Given the description of an element on the screen output the (x, y) to click on. 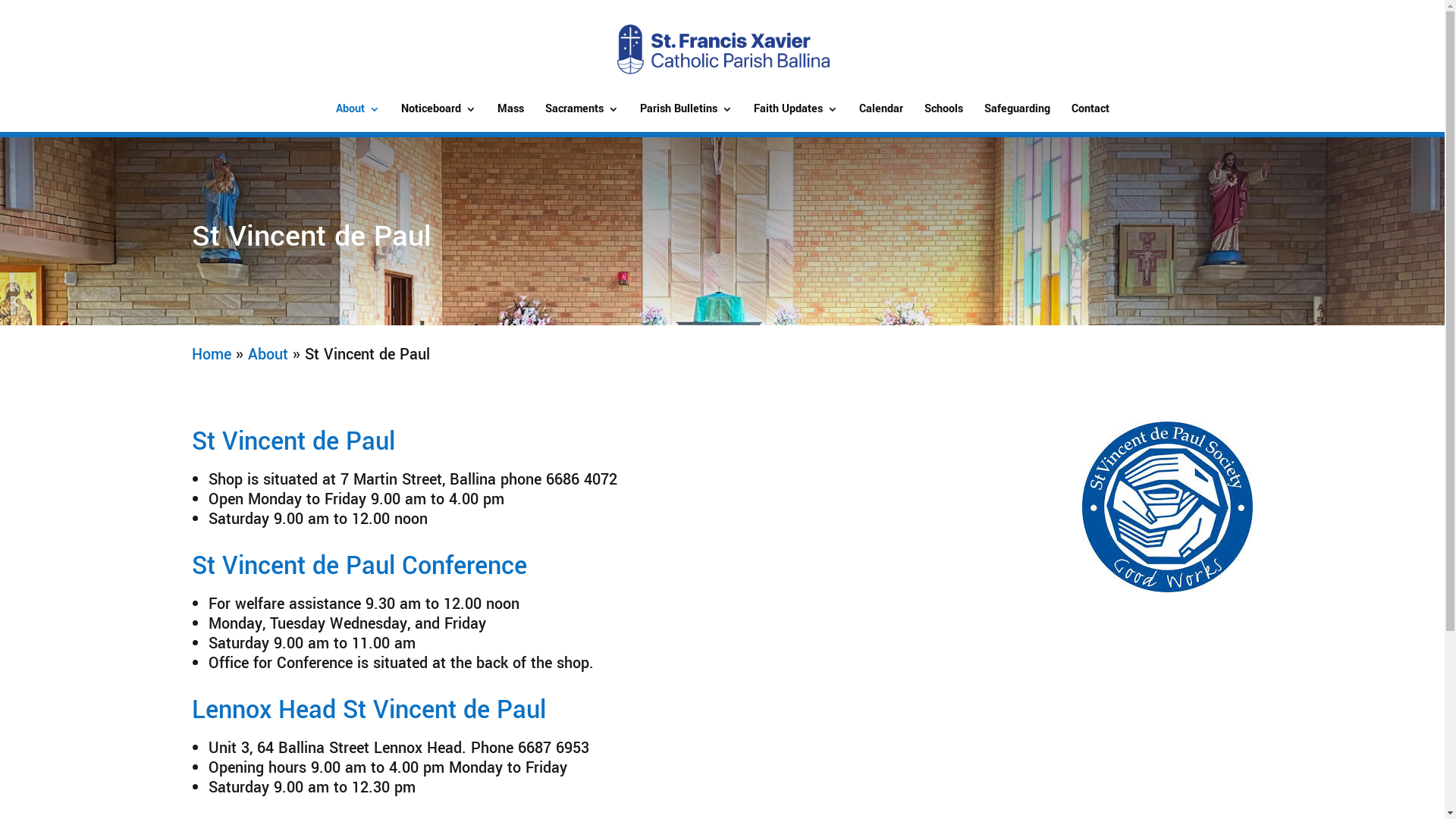
Mass Element type: text (510, 117)
Noticeboard Element type: text (437, 117)
About Element type: text (357, 117)
Sacraments Element type: text (581, 117)
Contact Element type: text (1089, 117)
Parish Bulletins Element type: text (686, 117)
About Element type: text (267, 354)
SVDP_logo Element type: hover (1167, 506)
Schools Element type: text (942, 117)
Safeguarding Element type: text (1017, 117)
Calendar Element type: text (880, 117)
Home Element type: text (210, 354)
Faith Updates Element type: text (795, 117)
